Given the description of an element on the screen output the (x, y) to click on. 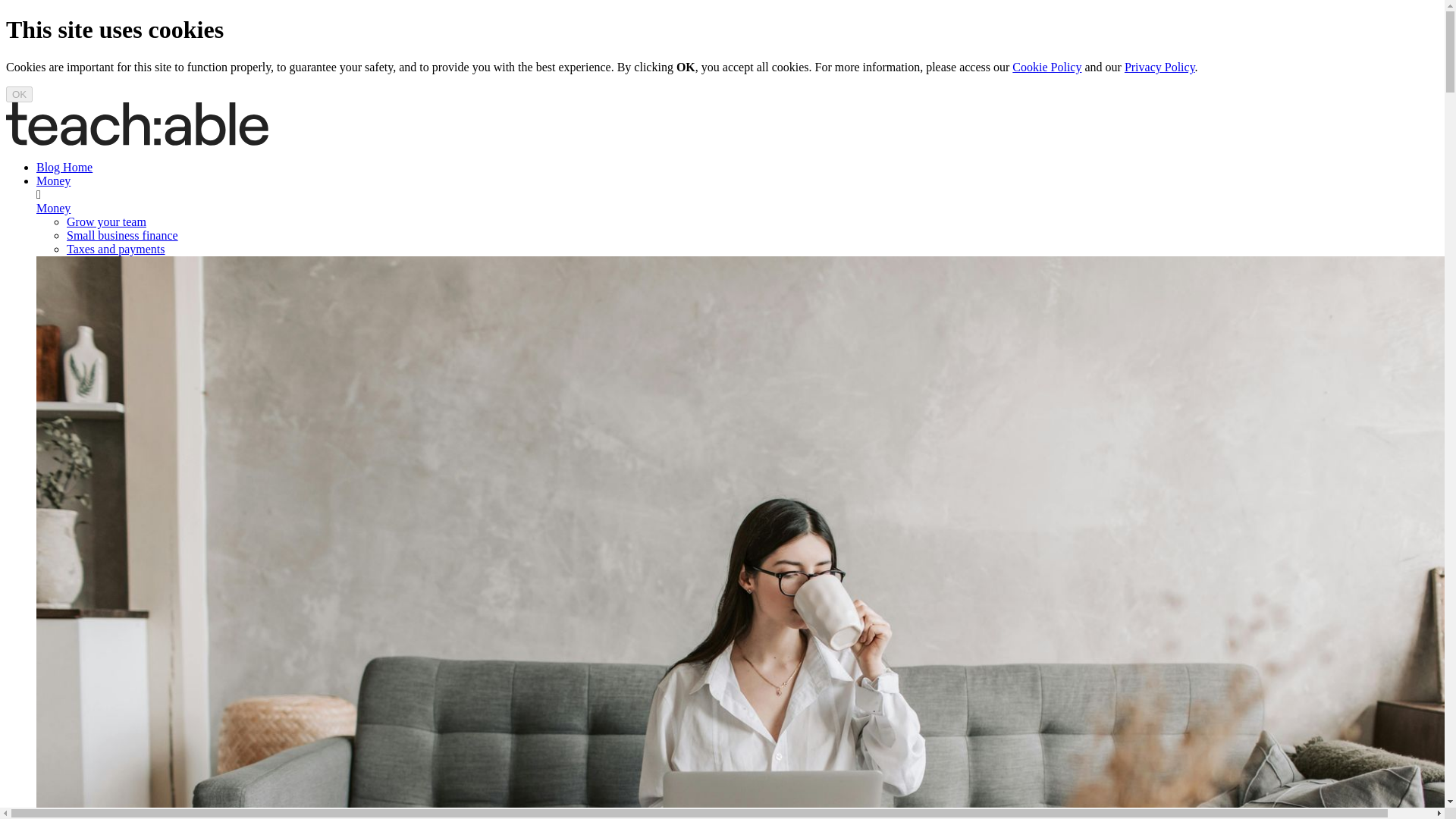
Taxes and payments (115, 248)
Blog Home (64, 166)
Grow your team (106, 221)
Small business finance (121, 235)
Money (52, 207)
Money (52, 180)
